Given the description of an element on the screen output the (x, y) to click on. 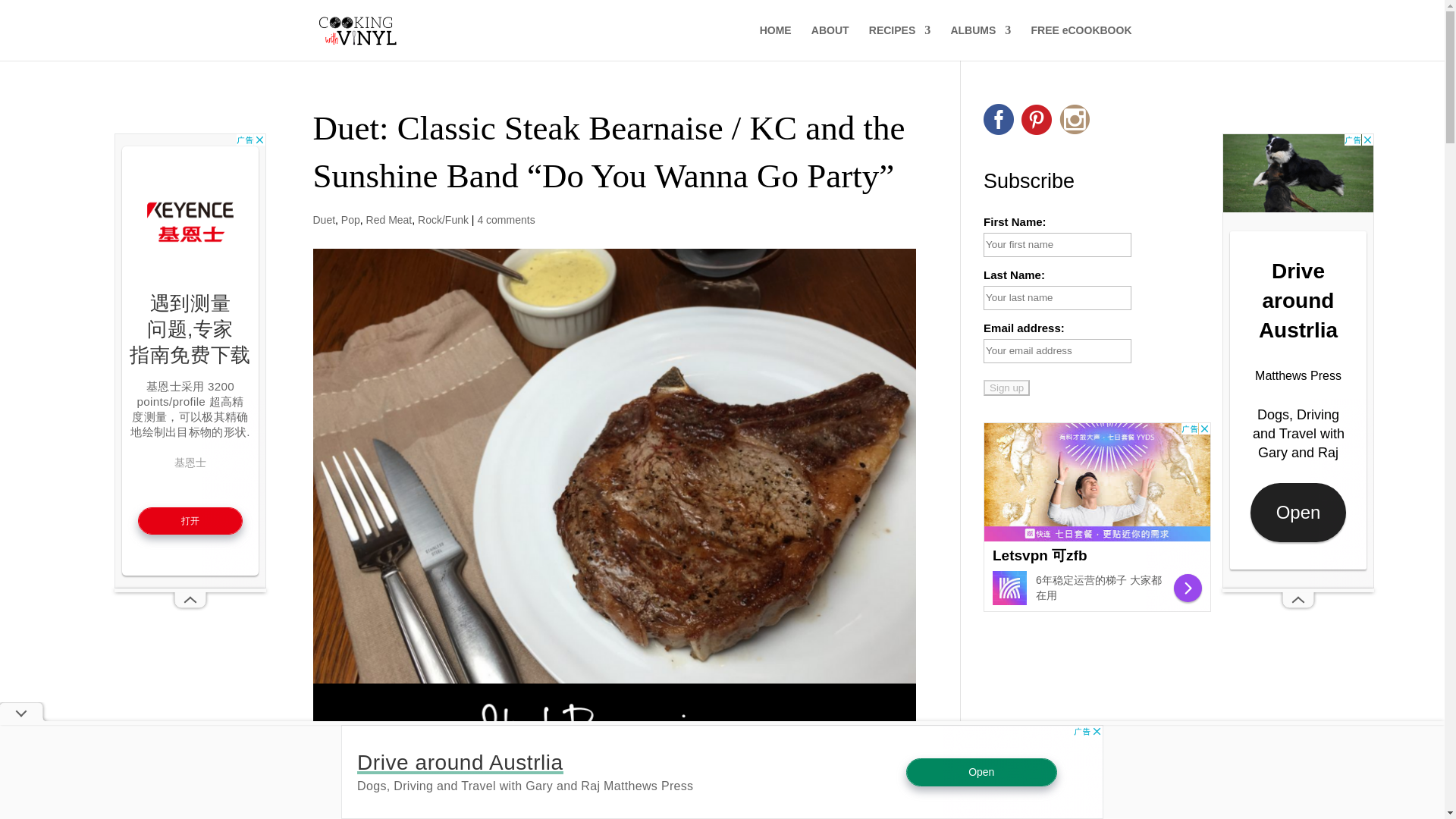
Advertisement (1097, 516)
RECIPES (899, 42)
ABOUT (829, 42)
FREE eCOOKBOOK (1080, 42)
ALBUMS (980, 42)
HOME (776, 42)
Sign up (1006, 387)
